Given the description of an element on the screen output the (x, y) to click on. 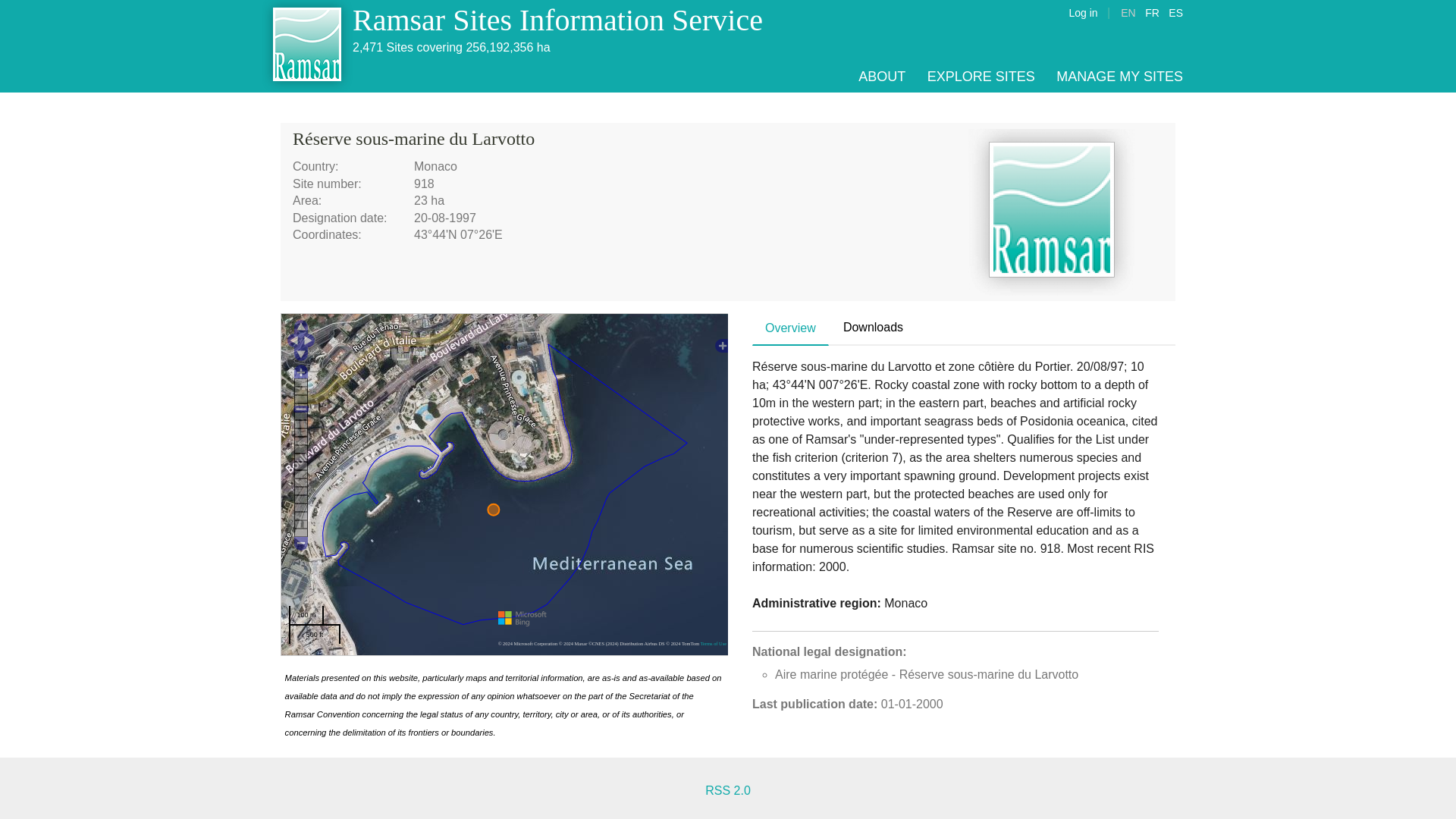
ABOUT (882, 76)
ES (1175, 12)
Home (557, 19)
Log in (1082, 12)
Overview (790, 328)
Ramsar logo (1051, 211)
Ramsar Sites Information Service (557, 19)
RSS 2.0 (727, 789)
FR (1151, 12)
EN (1128, 12)
